Given the description of an element on the screen output the (x, y) to click on. 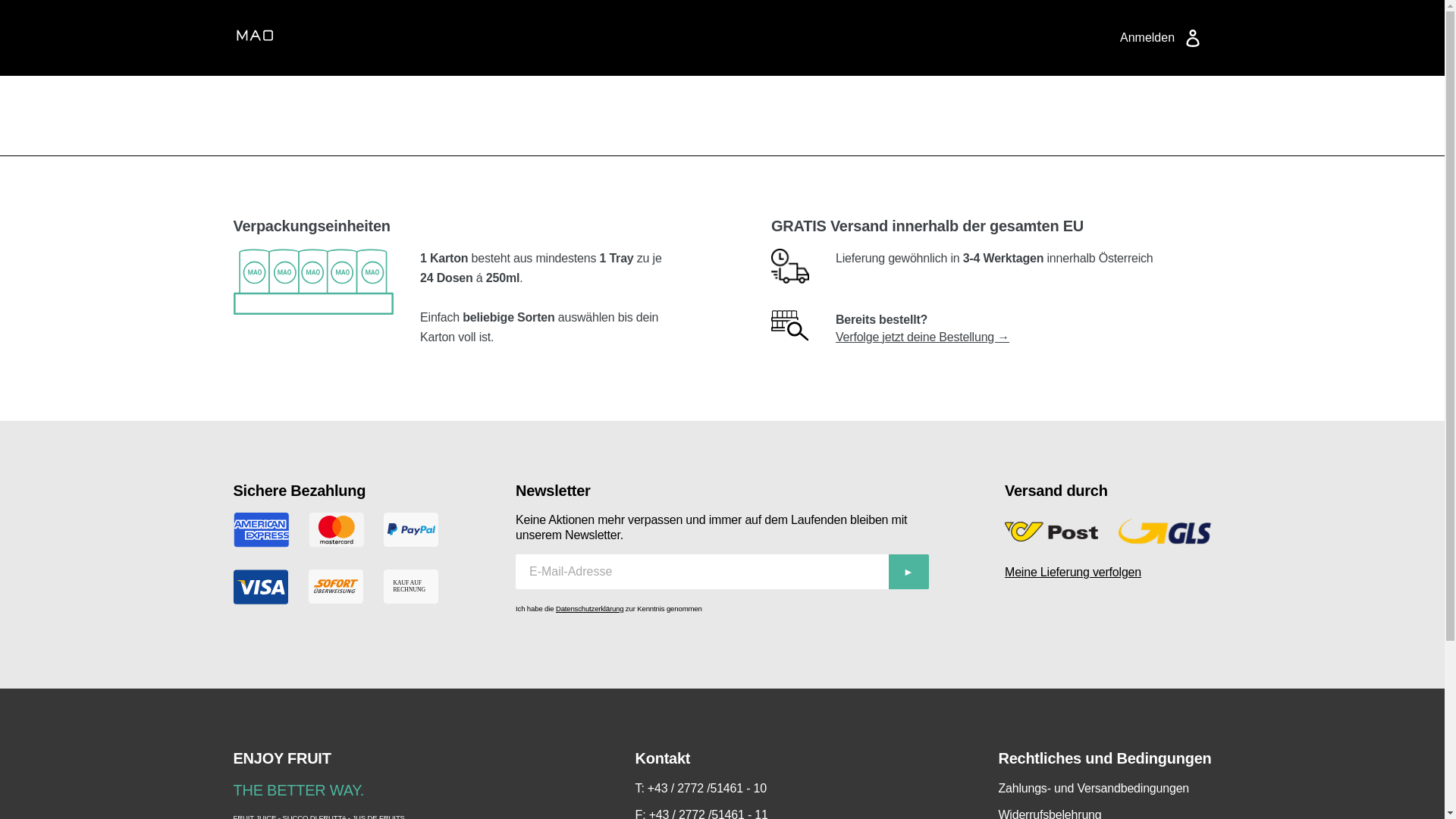
Anmelden
Einloggen Element type: text (1161, 37)
T: +43 / 2772 /51461 - 10 Element type: text (701, 788)
Zahlungs- und Versandbedingungen Element type: text (1104, 788)
Meine Lieferung verfolgen Element type: text (1107, 572)
